Given the description of an element on the screen output the (x, y) to click on. 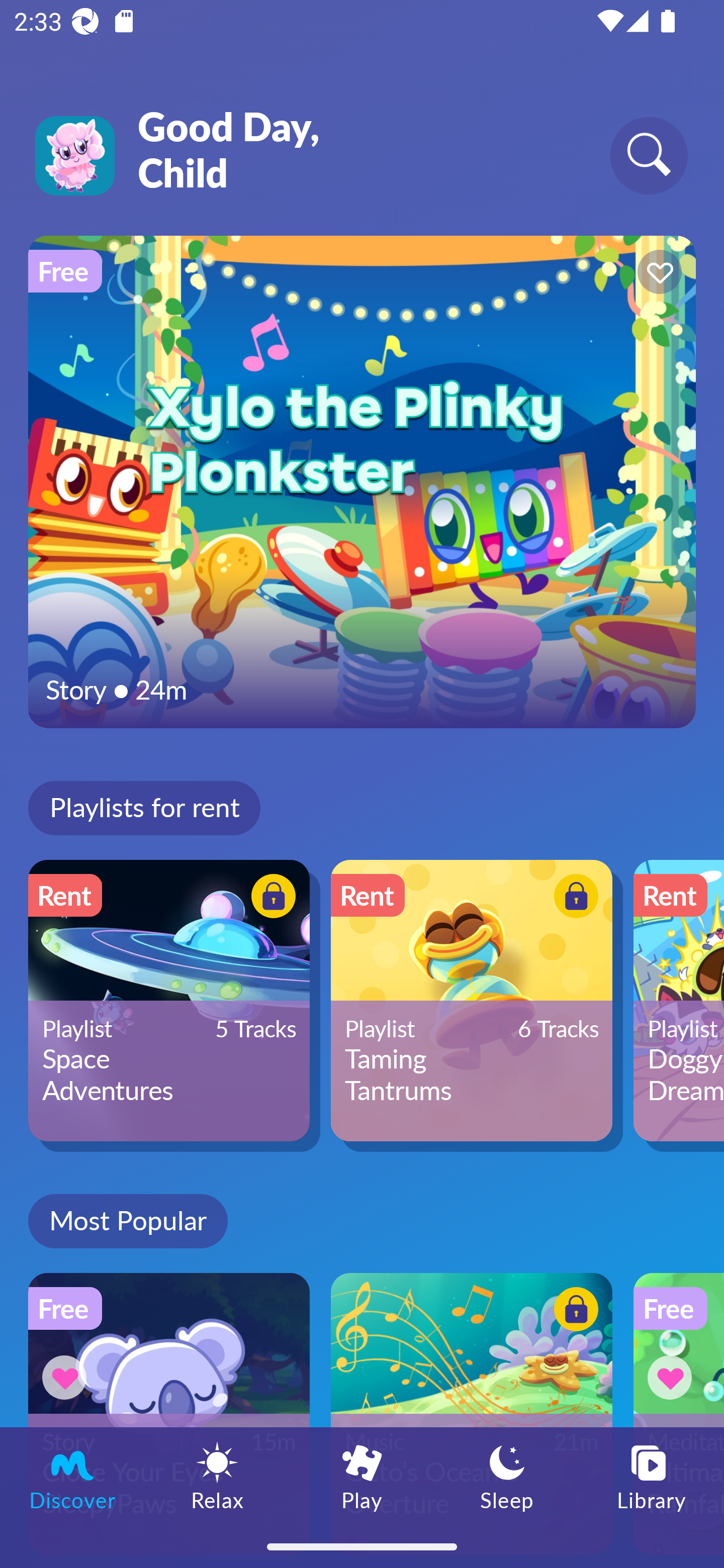
Search (648, 154)
Featured Content Free Button Story ● 24m (361, 481)
Button (656, 274)
Button (269, 898)
Button (573, 898)
Button (573, 1312)
Button (67, 1377)
Button (672, 1377)
Relax (216, 1475)
Play (361, 1475)
Sleep (506, 1475)
Library (651, 1475)
